Given the description of an element on the screen output the (x, y) to click on. 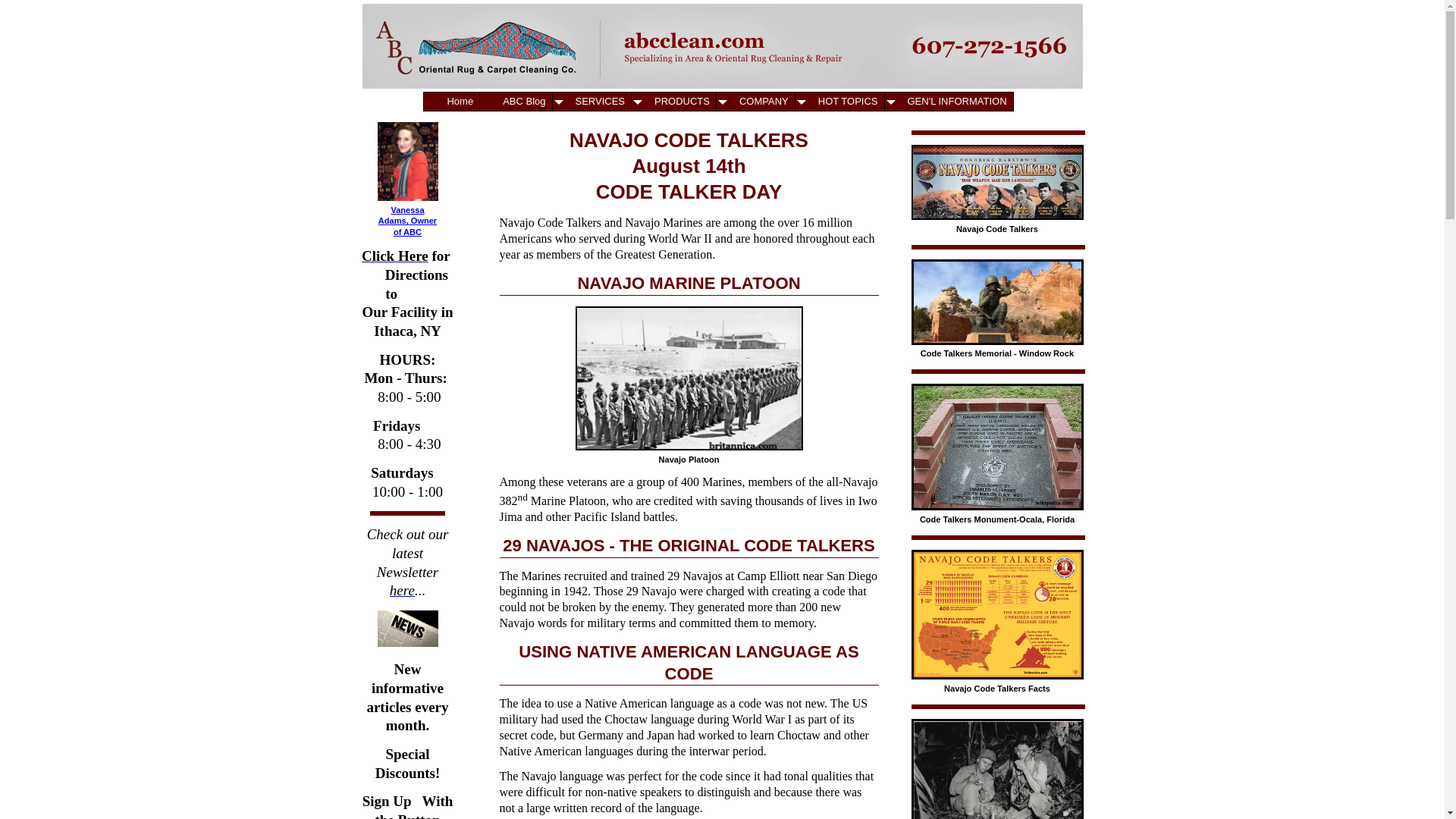
ABC Carpet Cleaning (406, 214)
Code Talkers Monument-Ocala, Florida (997, 447)
Navajo Platoon (688, 378)
ABC Blog (515, 101)
Code Talkers Memorial - Window Rock (997, 301)
Navajo Code Talkers (997, 769)
Navajo Code Talkers (997, 182)
Home (451, 101)
Navajo Code Talkers Facts (997, 614)
